Given the description of an element on the screen output the (x, y) to click on. 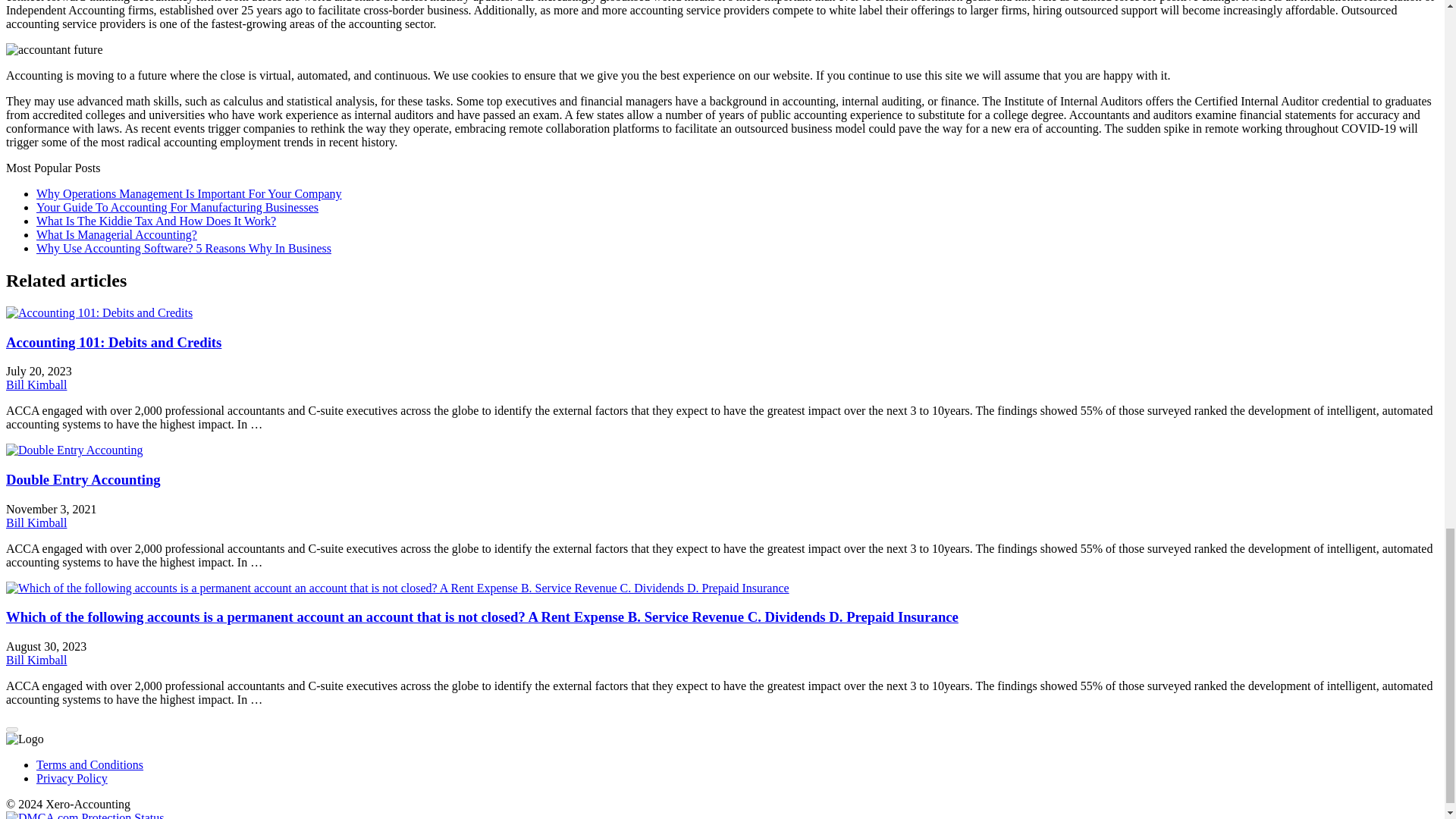
Bill Kimball (35, 384)
Terms and Conditions (89, 764)
Bill Kimball (35, 522)
What Is Managerial Accounting? (116, 234)
Why Operations Management Is Important For Your Company (189, 193)
Privacy Policy (71, 778)
Bill Kimball (35, 659)
Your Guide To Accounting For Manufacturing Businesses (177, 206)
What Is The Kiddie Tax And How Does It Work? (156, 220)
Why Use Accounting Software? 5 Reasons Why In Business (183, 247)
